Given the description of an element on the screen output the (x, y) to click on. 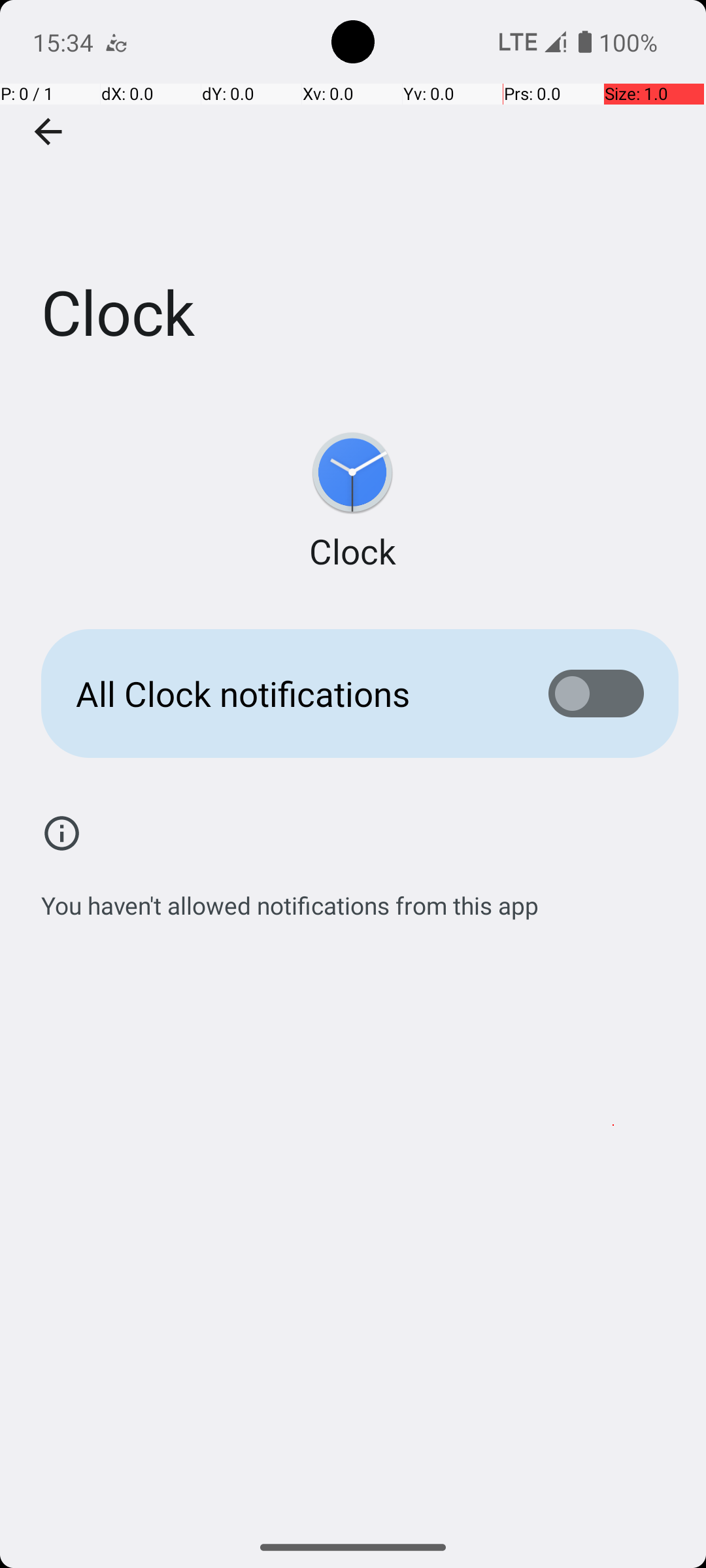
All Clock notifications Element type: android.widget.TextView (291, 693)
You haven't allowed notifications from this app Element type: android.widget.TextView (290, 898)
